Given the description of an element on the screen output the (x, y) to click on. 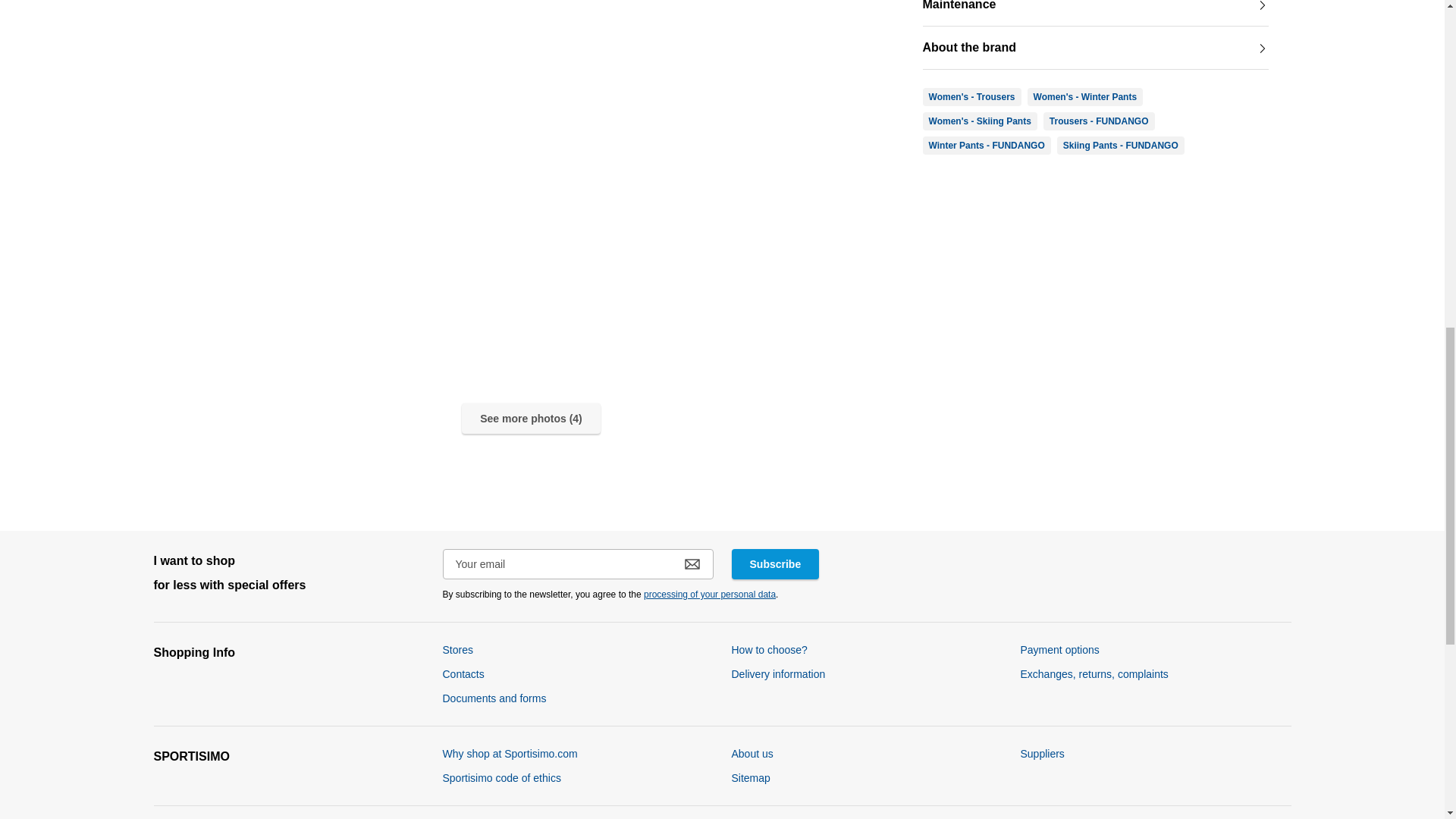
Women's - Trousers (972, 96)
Winter Pants - FUNDANGO (987, 145)
Skiing Pants - FUNDANGO (1121, 145)
Women's - Skiing Pants (979, 121)
Women's - Winter Pants (1084, 96)
Women's - Trousers (972, 96)
Trousers - FUNDANGO (1098, 121)
